Given the description of an element on the screen output the (x, y) to click on. 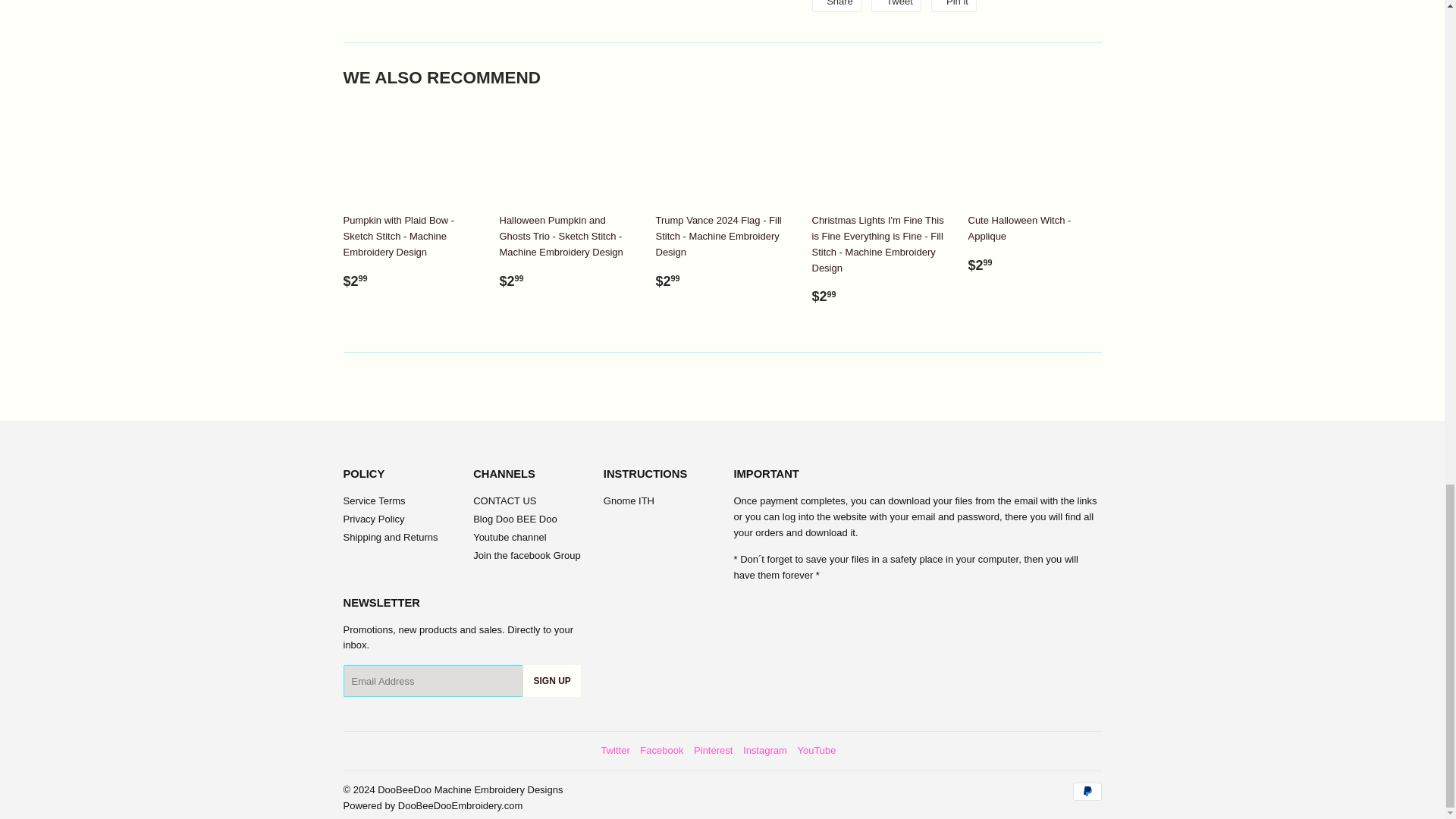
PayPal (1085, 791)
DooBeeDoo Machine Embroidery Designs on Twitter (613, 749)
Share on Facebook (835, 6)
Pin on Pinterest (953, 6)
DooBeeDoo Machine Embroidery Designs on YouTube (815, 749)
Tweet on Twitter (895, 6)
DooBeeDoo Machine Embroidery Designs on Instagram (764, 749)
DooBeeDoo Machine Embroidery Designs on Pinterest (713, 749)
DooBeeDoo Machine Embroidery Designs on Facebook (661, 749)
